Given the description of an element on the screen output the (x, y) to click on. 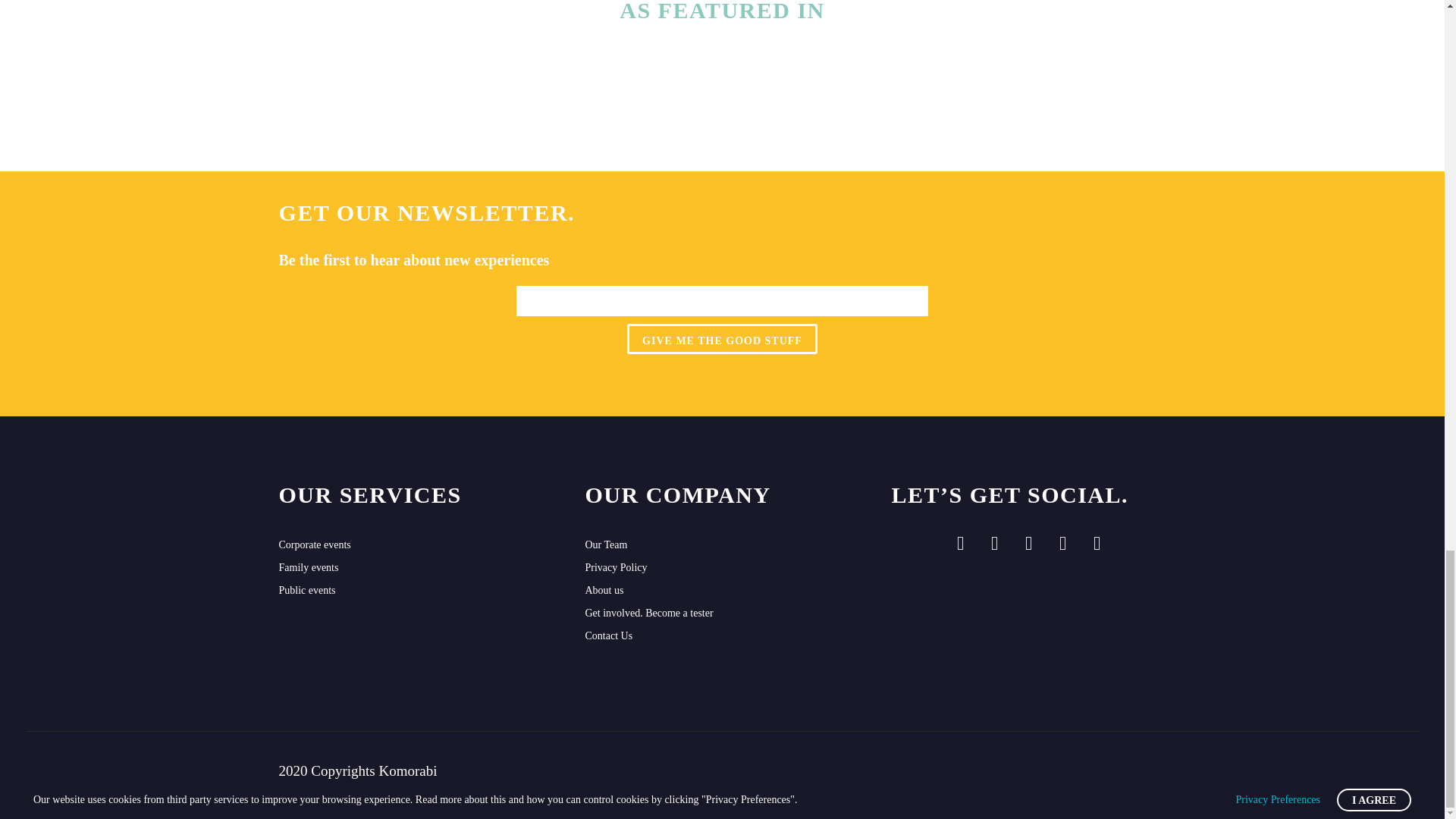
Give me the good stuff (721, 338)
Privacy Policy (722, 567)
About us (722, 590)
Give me the good stuff (721, 338)
Our Team (722, 544)
Public events (416, 590)
Get involved. Become a tester (722, 612)
Contact Us (722, 635)
Family events (416, 567)
Get involved. Become a tester (722, 612)
Corporate events (416, 544)
Our Team (722, 544)
